Given the description of an element on the screen output the (x, y) to click on. 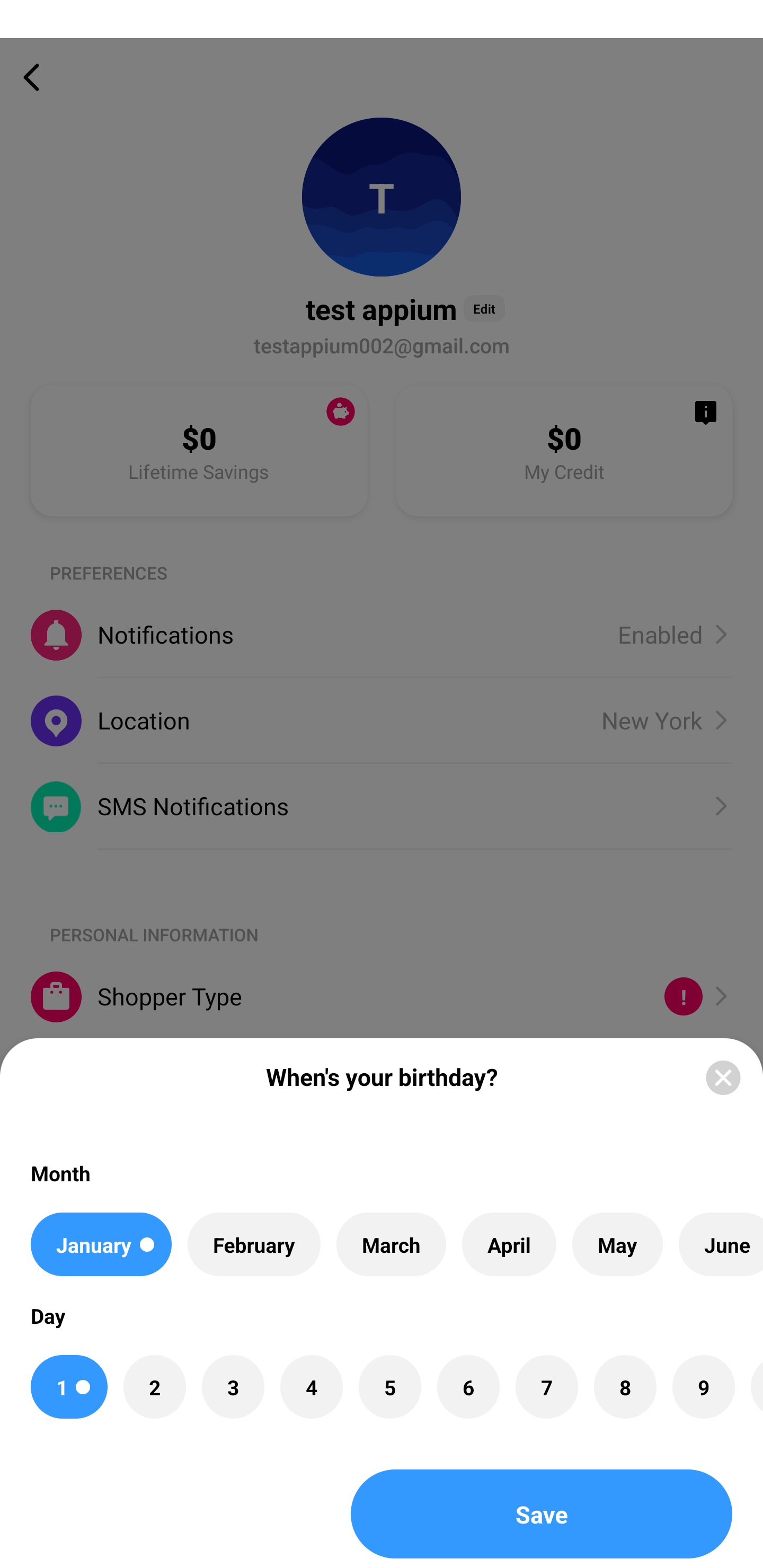
January (100, 1244)
February (253, 1244)
March (391, 1244)
April (509, 1244)
May (617, 1244)
June (721, 1244)
1 (68, 1386)
2 (154, 1386)
3 (233, 1386)
4 (311, 1386)
5 (389, 1386)
6 (468, 1386)
7 (546, 1386)
8 (624, 1386)
9 (703, 1386)
Save (541, 1513)
